Given the description of an element on the screen output the (x, y) to click on. 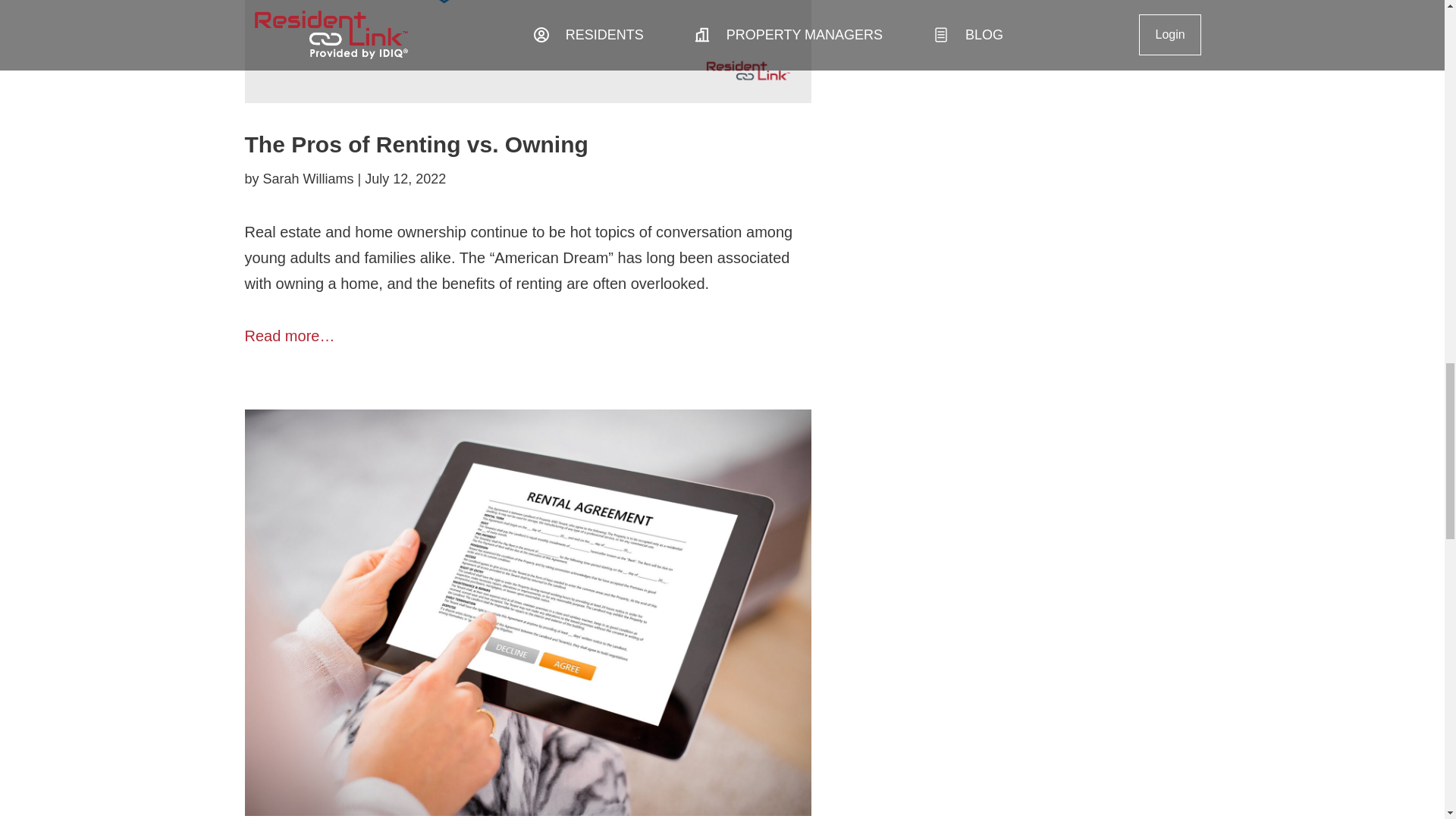
The Pros of Renting vs. Owning (416, 144)
